Given the description of an element on the screen output the (x, y) to click on. 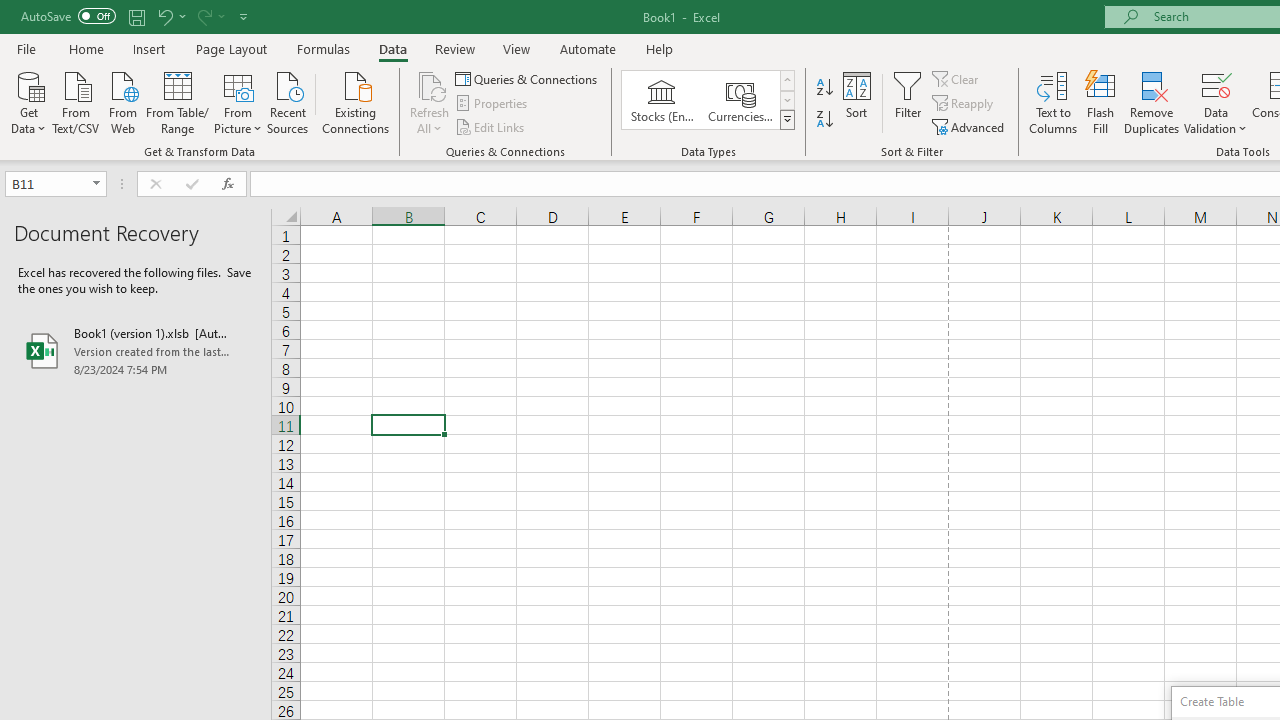
From Table/Range (177, 101)
Class: NetUIImage (787, 119)
Book1 (version 1).xlsb  [AutoRecovered] (136, 350)
Data Types (786, 120)
Sort A to Z (824, 87)
Data Validation... (1215, 102)
Currencies (English) (740, 100)
Refresh All (429, 102)
